Given the description of an element on the screen output the (x, y) to click on. 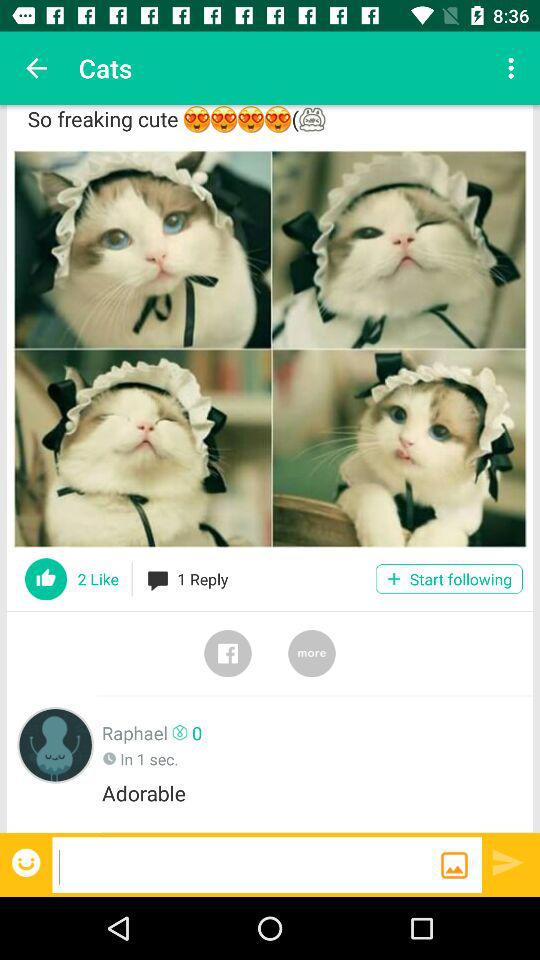
send (508, 862)
